Given the description of an element on the screen output the (x, y) to click on. 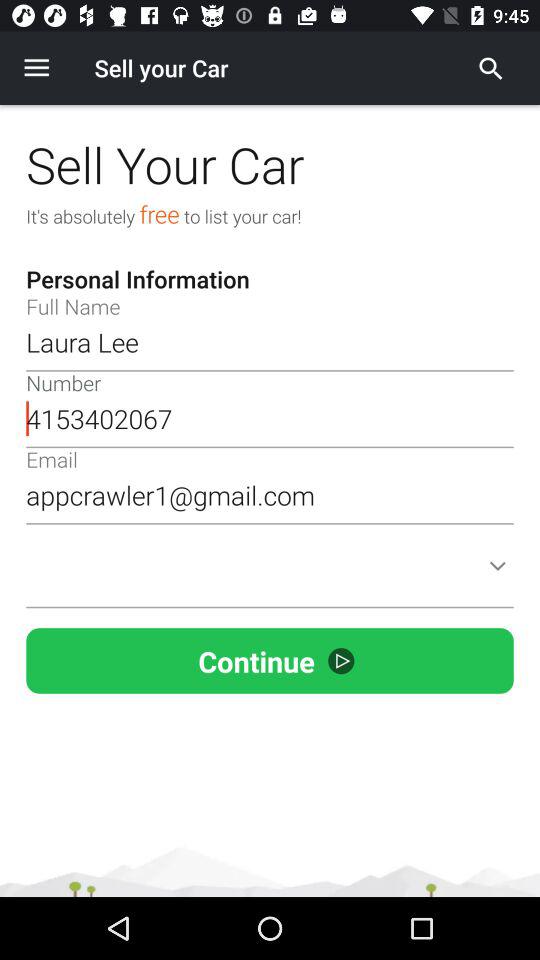
scroll until the 4153402067 item (269, 418)
